Given the description of an element on the screen output the (x, y) to click on. 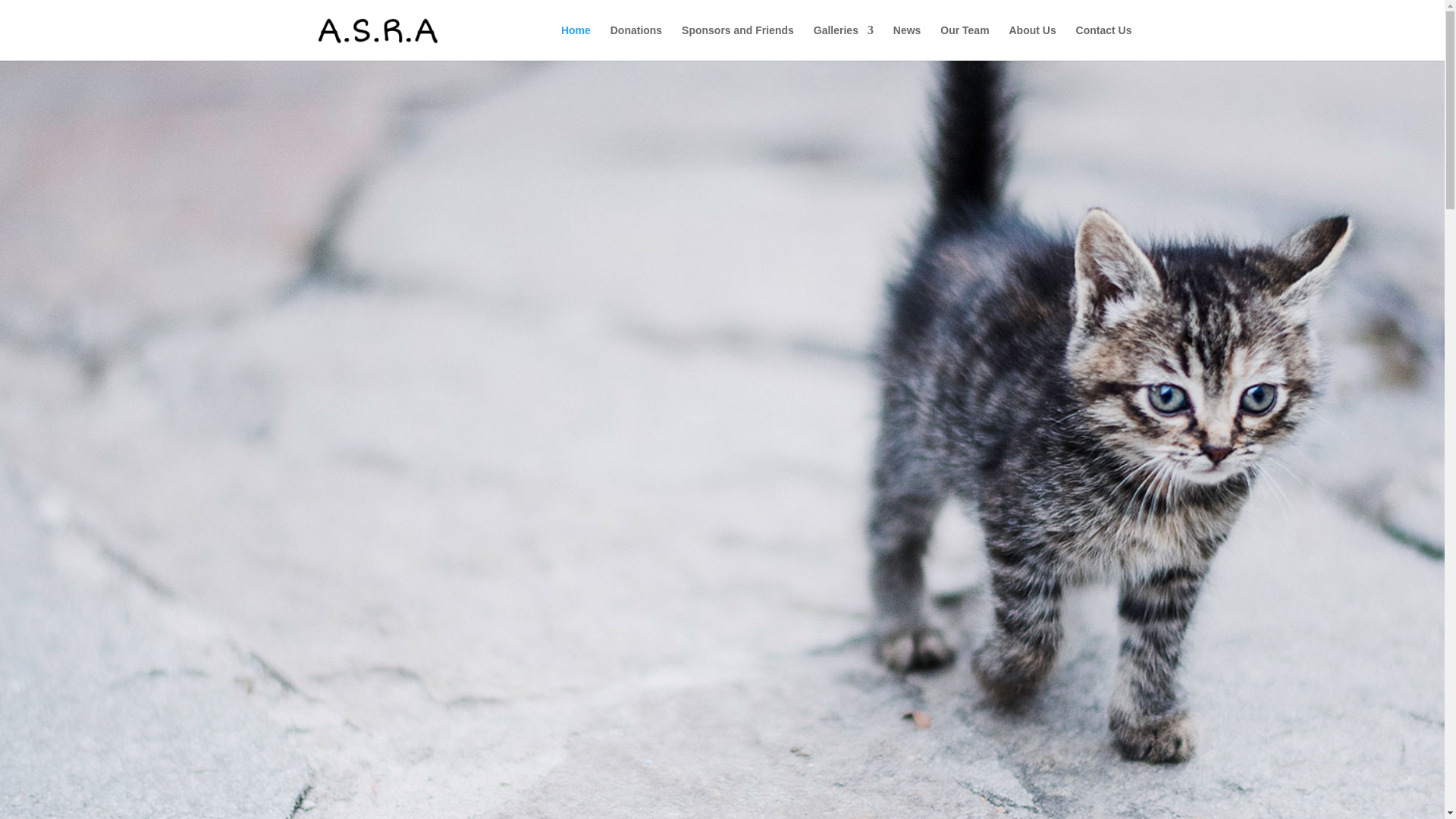
Sponsors and Friends (737, 42)
Donations (636, 42)
Contact Us (1103, 42)
About Us (1032, 42)
Our Team (964, 42)
Galleries (843, 42)
